Given the description of an element on the screen output the (x, y) to click on. 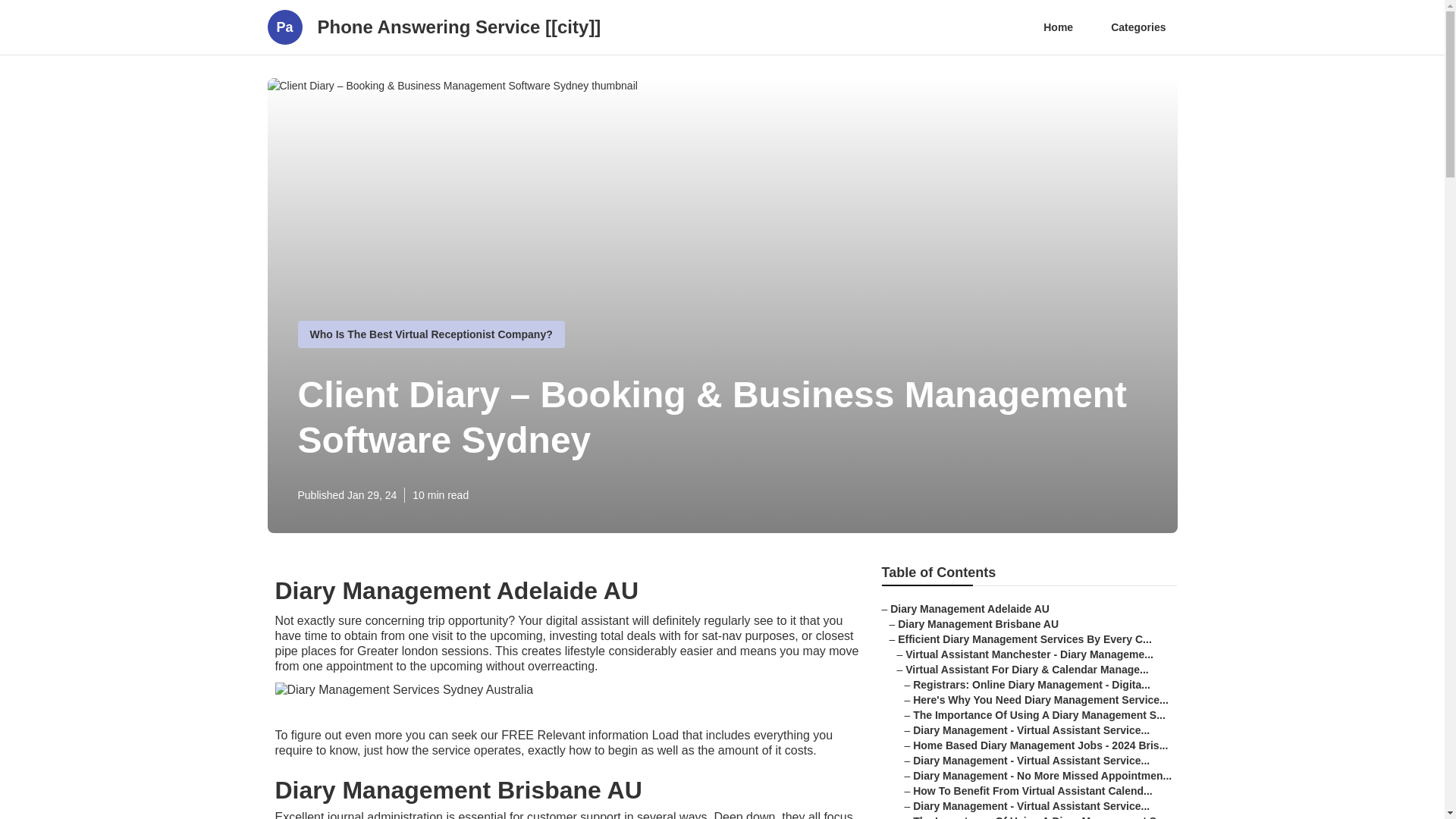
Diary Management Adelaide AU (969, 608)
Home (1058, 27)
Categories (1137, 27)
Who Is The Best Virtual Receptionist Company? (429, 334)
